Given the description of an element on the screen output the (x, y) to click on. 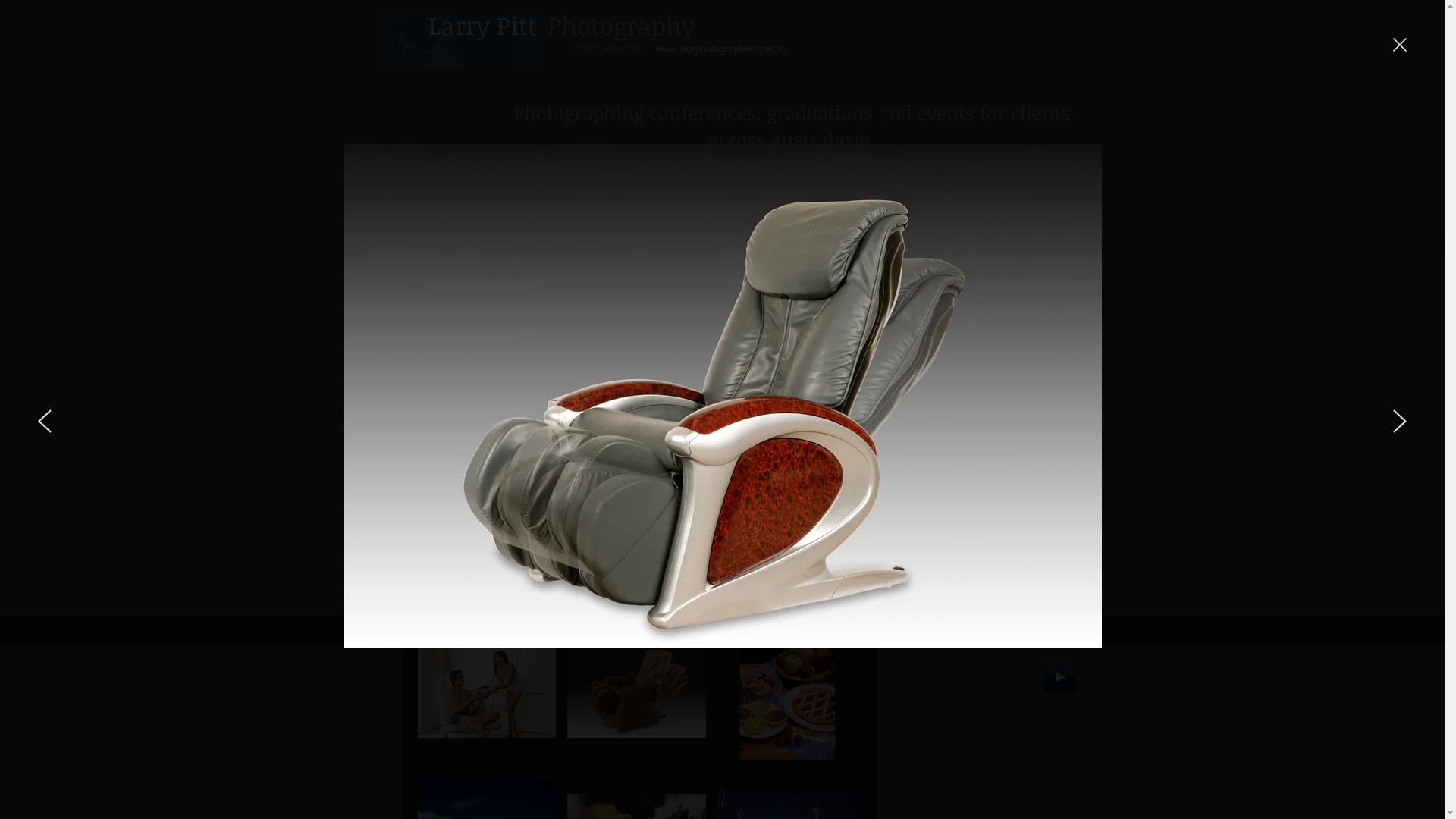
larry@larrypitt.com.au Element type: text (592, 186)
Contact Element type: text (1008, 186)
www.ourphotographer.com.au Element type: text (721, 49)
Portfolio Menu Element type: text (814, 596)
Portfolio Menu Element type: text (923, 186)
Blog Element type: text (1064, 186)
Home page Element type: text (832, 186)
